Given the description of an element on the screen output the (x, y) to click on. 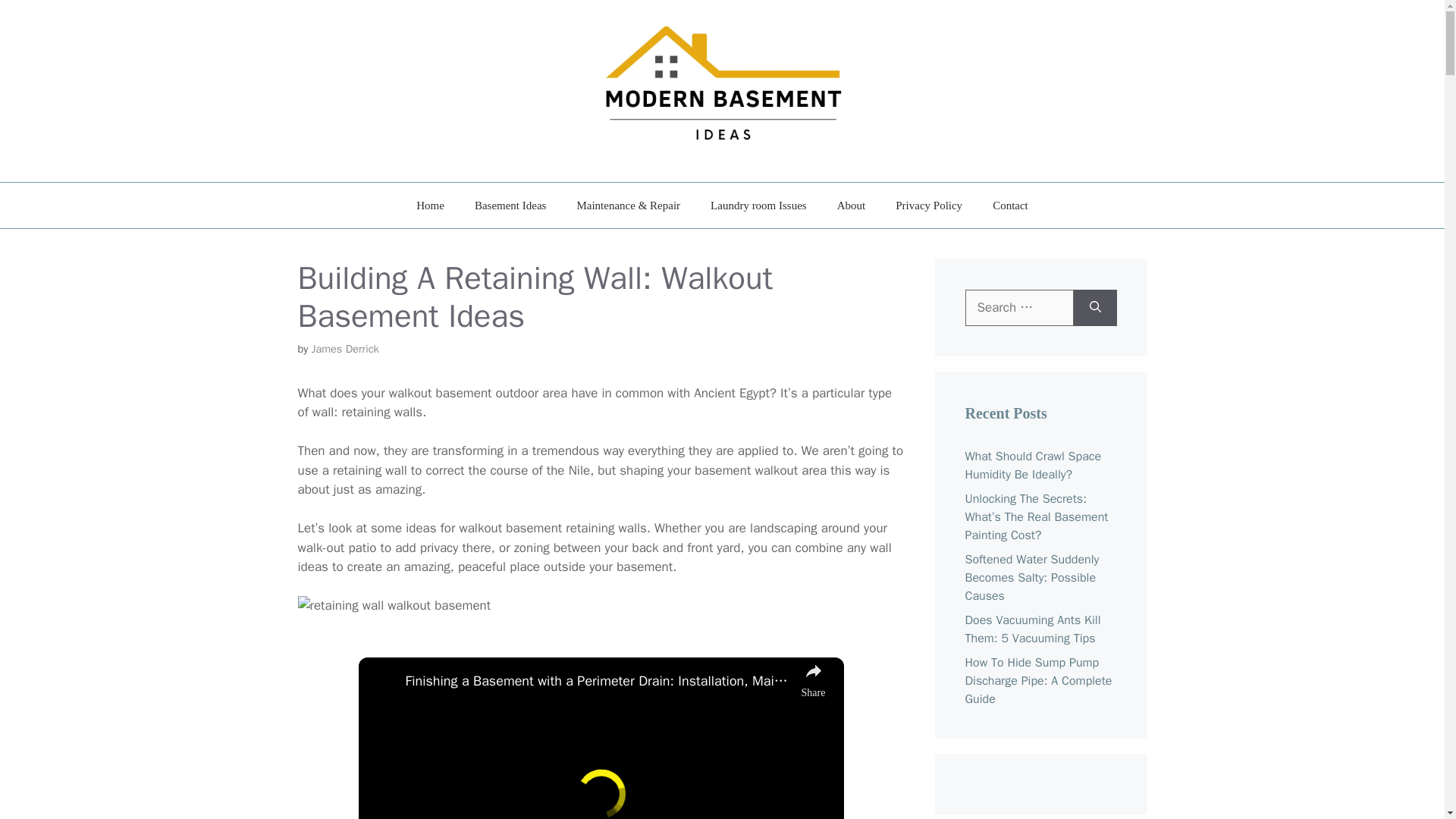
About (851, 205)
James Derrick (344, 348)
Privacy Policy (928, 205)
Basement Ideas (511, 205)
Contact (1009, 205)
View all posts by James Derrick (344, 348)
Building A Retaining Wall: Walkout Basement Ideas (393, 605)
What Should Crawl Space Humidity Be Ideally? (1031, 465)
Laundry room Issues (758, 205)
